Given the description of an element on the screen output the (x, y) to click on. 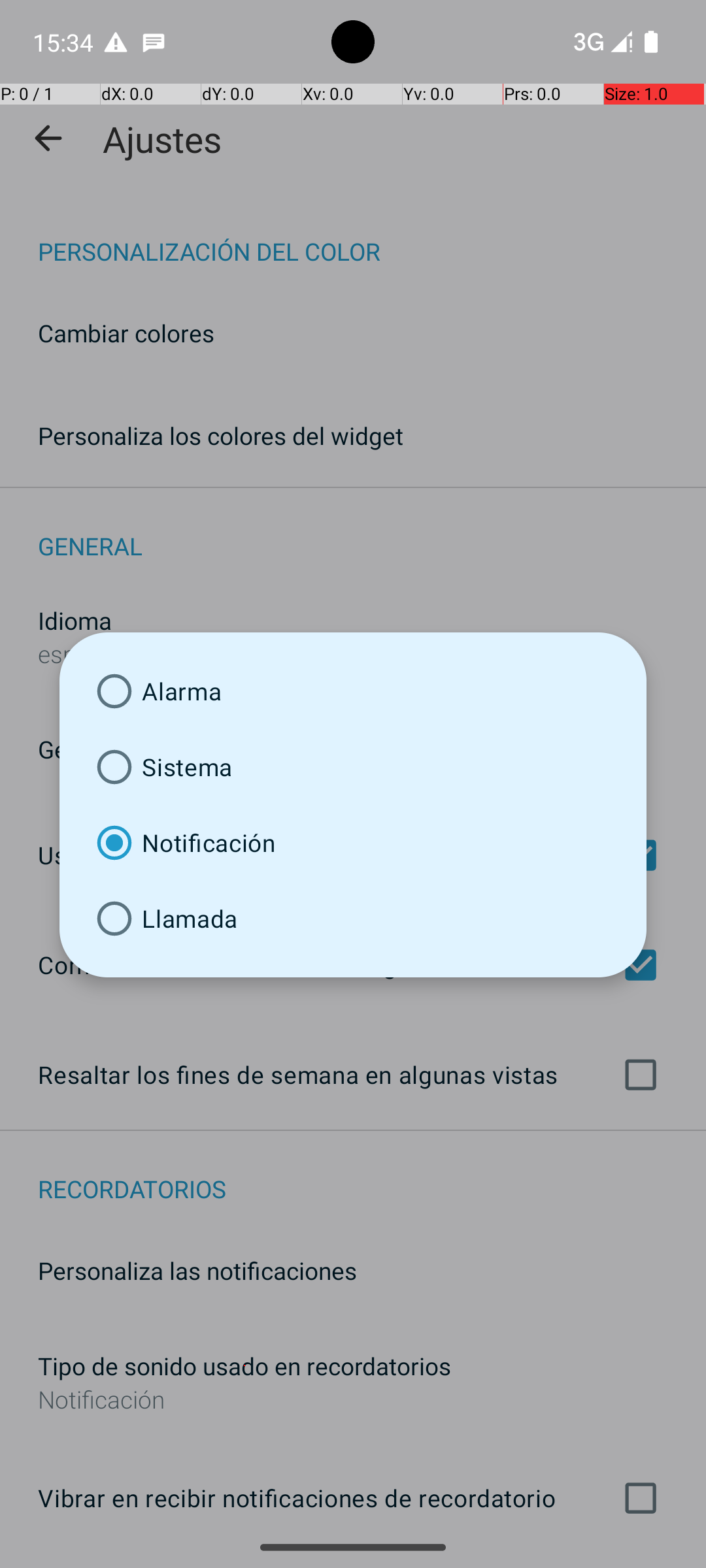
Alarma Element type: android.widget.RadioButton (352, 691)
Sistema Element type: android.widget.RadioButton (352, 766)
Llamada Element type: android.widget.RadioButton (352, 918)
